Given the description of an element on the screen output the (x, y) to click on. 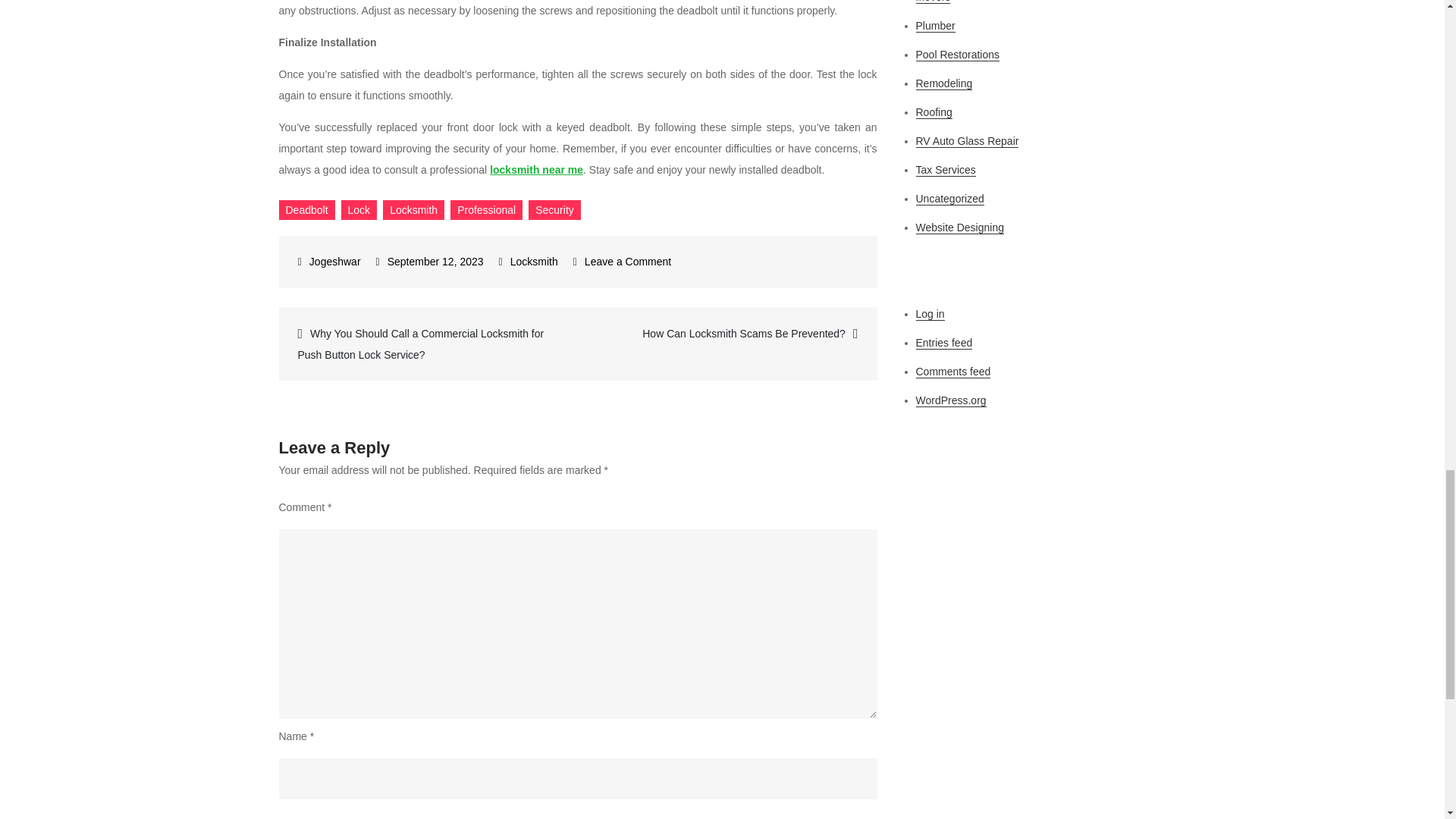
Locksmith (413, 209)
Lock (358, 209)
Security (554, 209)
Professional (485, 209)
locksmith near me (536, 169)
How Can Locksmith Scams Be Prevented? (727, 332)
Jogeshwar (329, 261)
Locksmith (534, 261)
September 12, 2023 (429, 261)
